Given the description of an element on the screen output the (x, y) to click on. 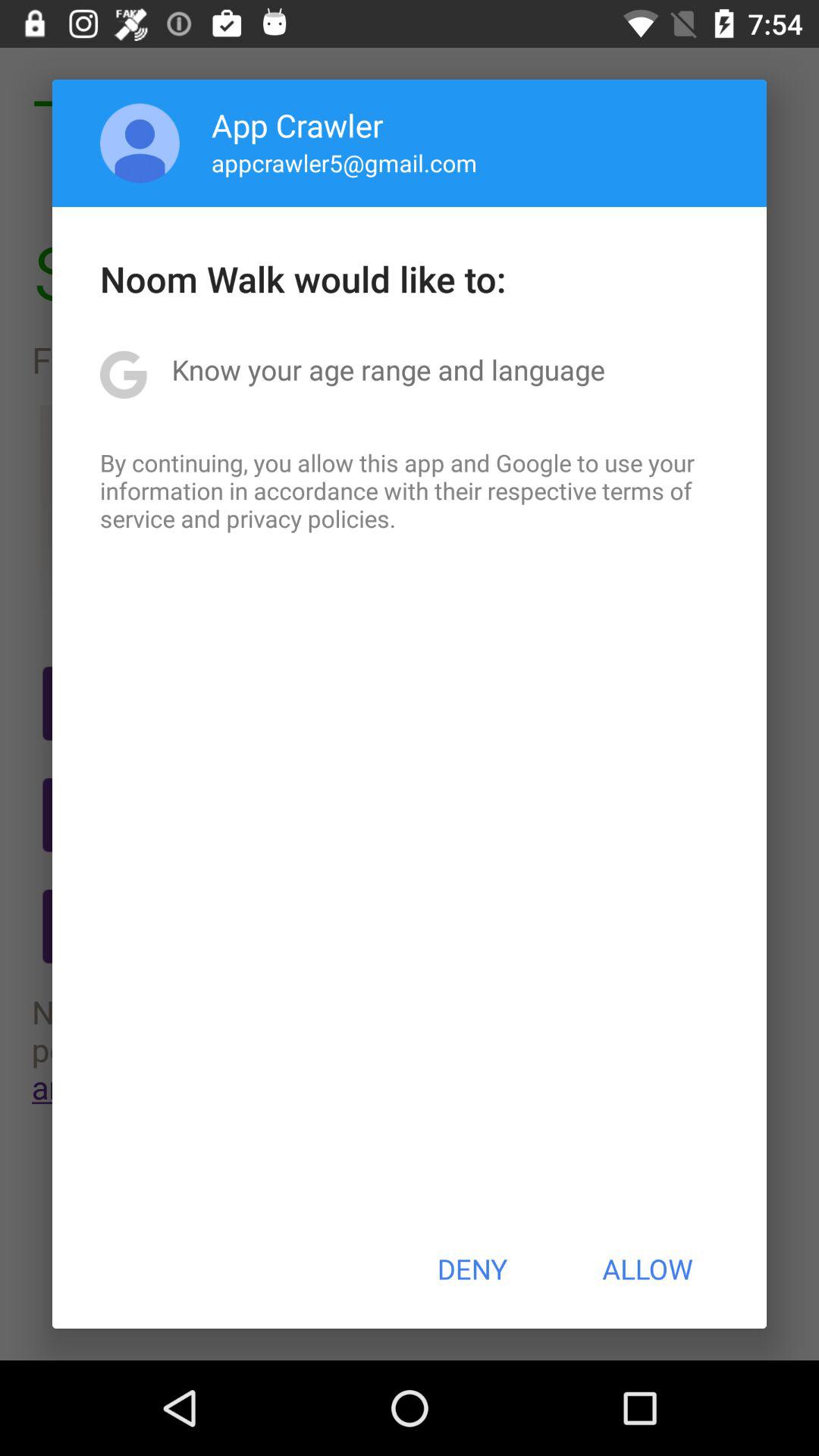
press icon above appcrawler5@gmail.com (297, 124)
